Given the description of an element on the screen output the (x, y) to click on. 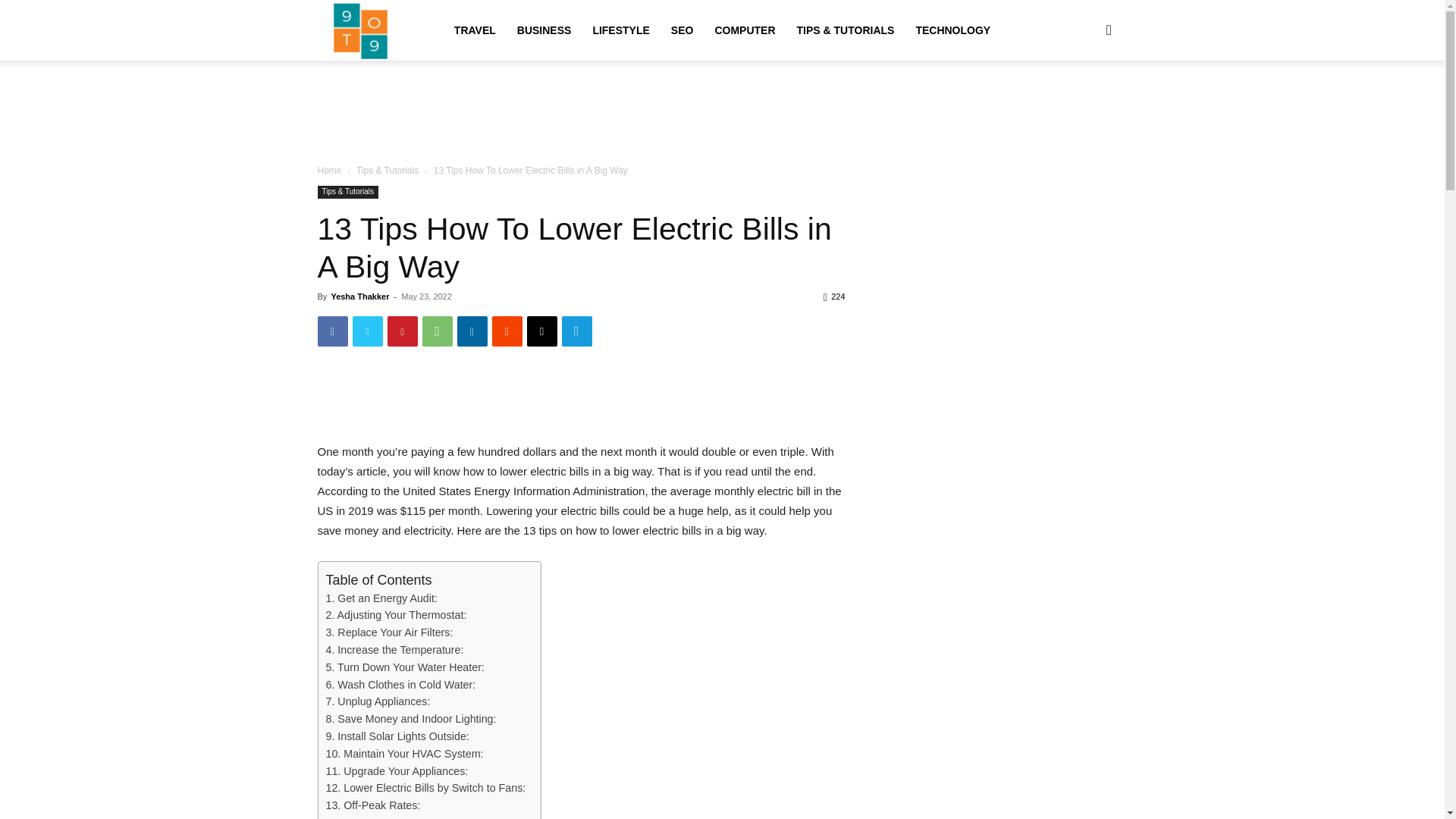
2. Adjusting Your Thermostat: (396, 615)
Facebook (332, 331)
Pinterest (401, 331)
2. Adjusting Your Thermostat: (396, 615)
TECHNOLOGY (952, 30)
1. Get an Energy Audit: (382, 598)
LIFESTYLE (619, 30)
Twitter (366, 331)
1. Get an Energy Audit: (382, 598)
TRAVEL (475, 30)
